Given the description of an element on the screen output the (x, y) to click on. 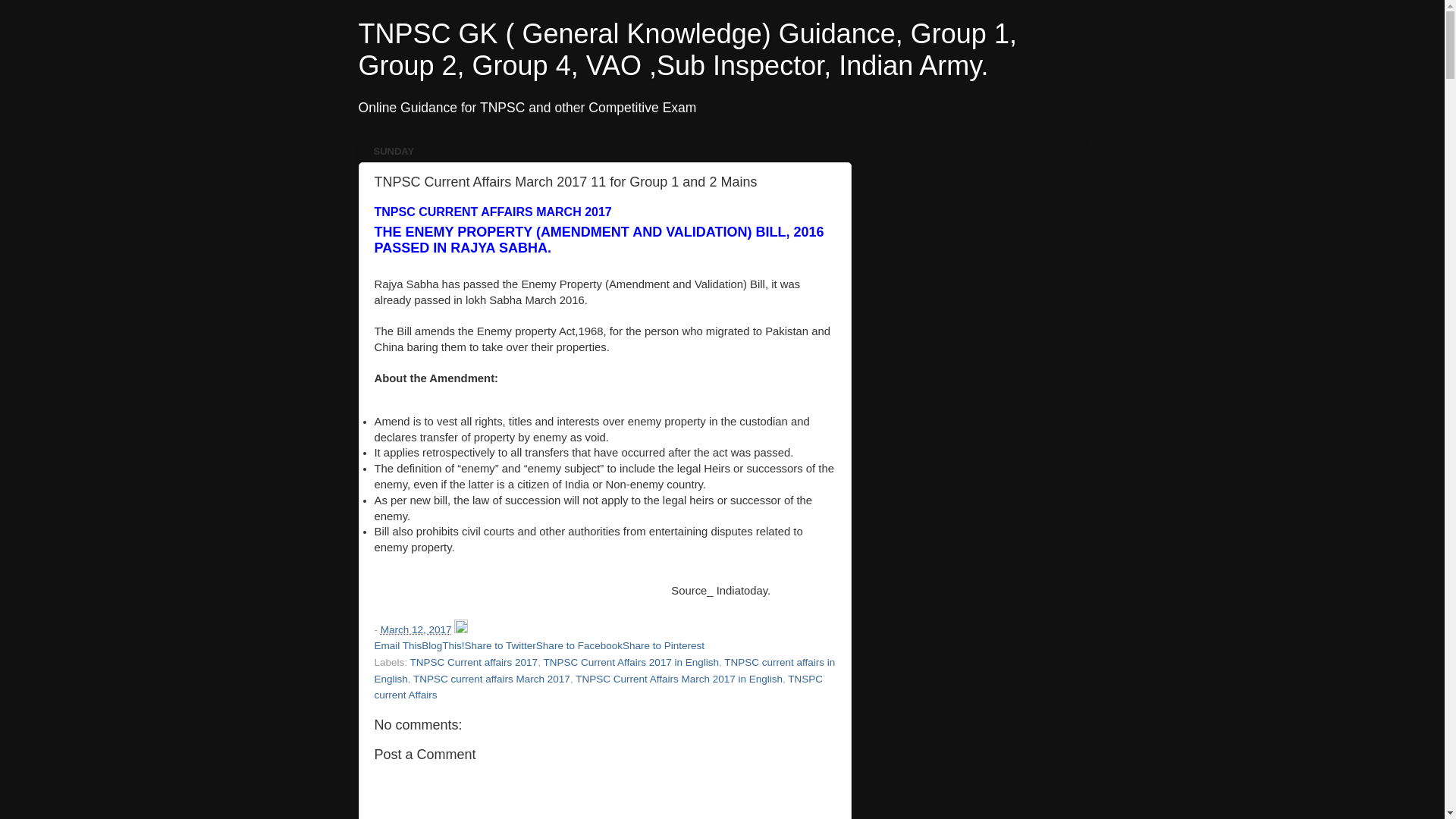
TNPSC current affairs in English (604, 670)
Email This (398, 645)
Share to Pinterest (663, 645)
TNSPC current Affairs (599, 687)
March 12, 2017 (415, 629)
Edit Post (460, 629)
TNPSC Current affairs 2017 (474, 662)
Share to Pinterest (663, 645)
TNPSC Current Affairs March 2017 in English (679, 678)
TNPSC Current Affairs 2017 in English (631, 662)
Share to Facebook (579, 645)
BlogThis! (443, 645)
Email This (398, 645)
Share to Twitter (499, 645)
TNPSC current affairs March 2017 (491, 678)
